Given the description of an element on the screen output the (x, y) to click on. 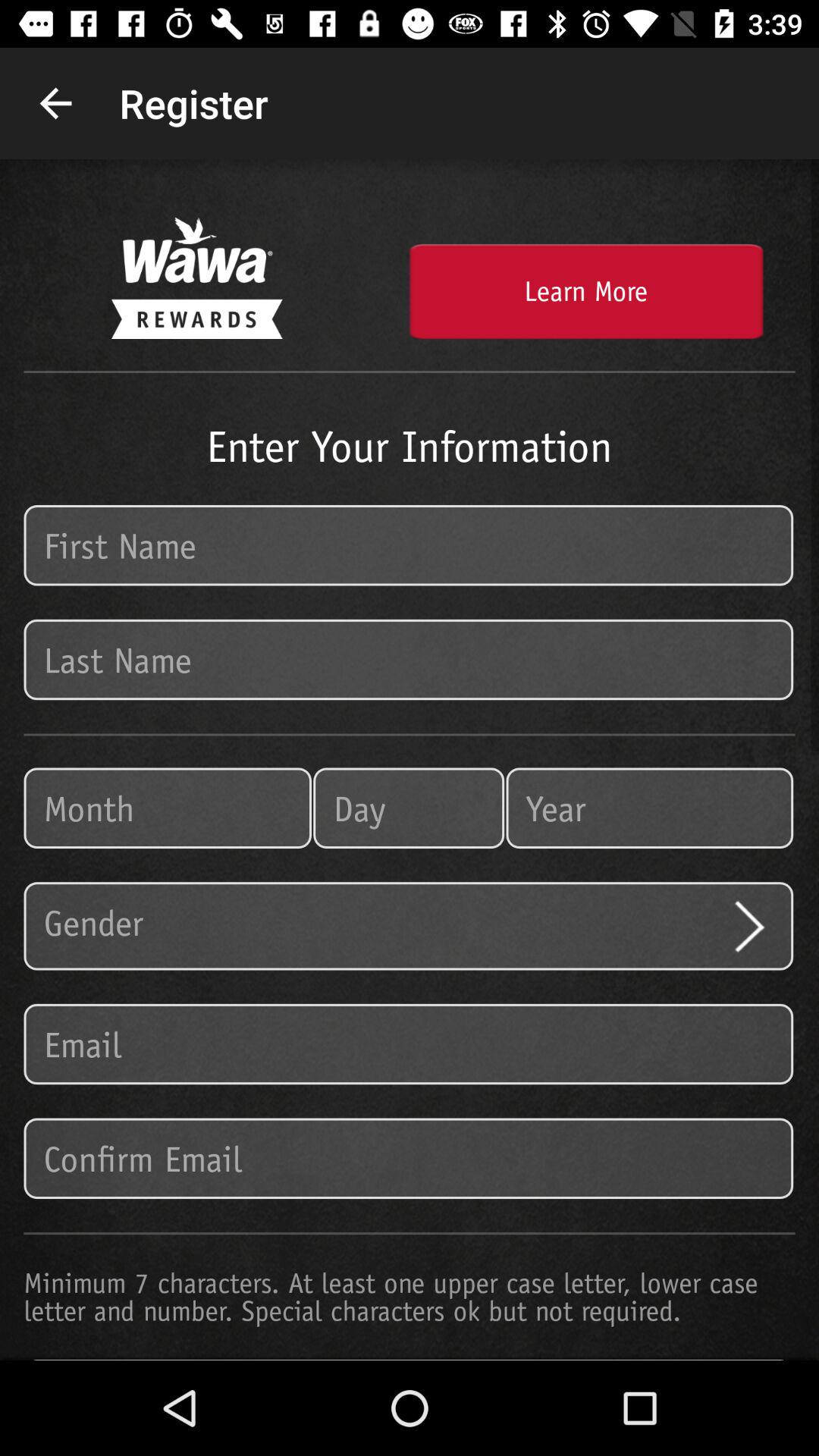
choose item at the top right corner (585, 290)
